Given the description of an element on the screen output the (x, y) to click on. 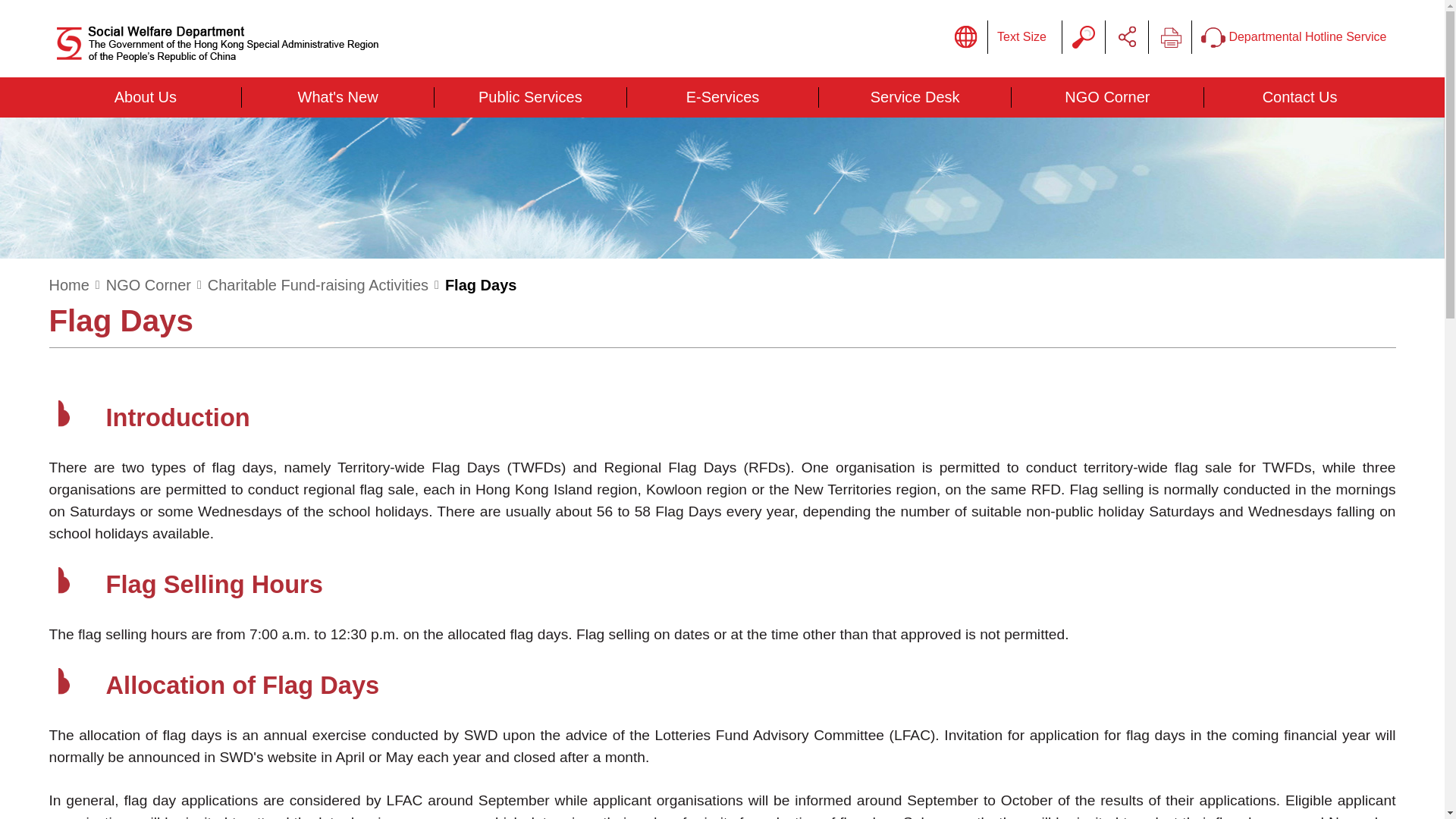
About Us (145, 96)
Social Welfare Department (219, 43)
Public Services (529, 96)
Text Size (1021, 37)
What's New (337, 96)
Click to view the details of Text Size (1021, 37)
Click to view the details of Departmental Hotline Service (1294, 37)
Departmental Hotline Service (1294, 37)
Click to view the detais of About Us (145, 96)
